Given the description of an element on the screen output the (x, y) to click on. 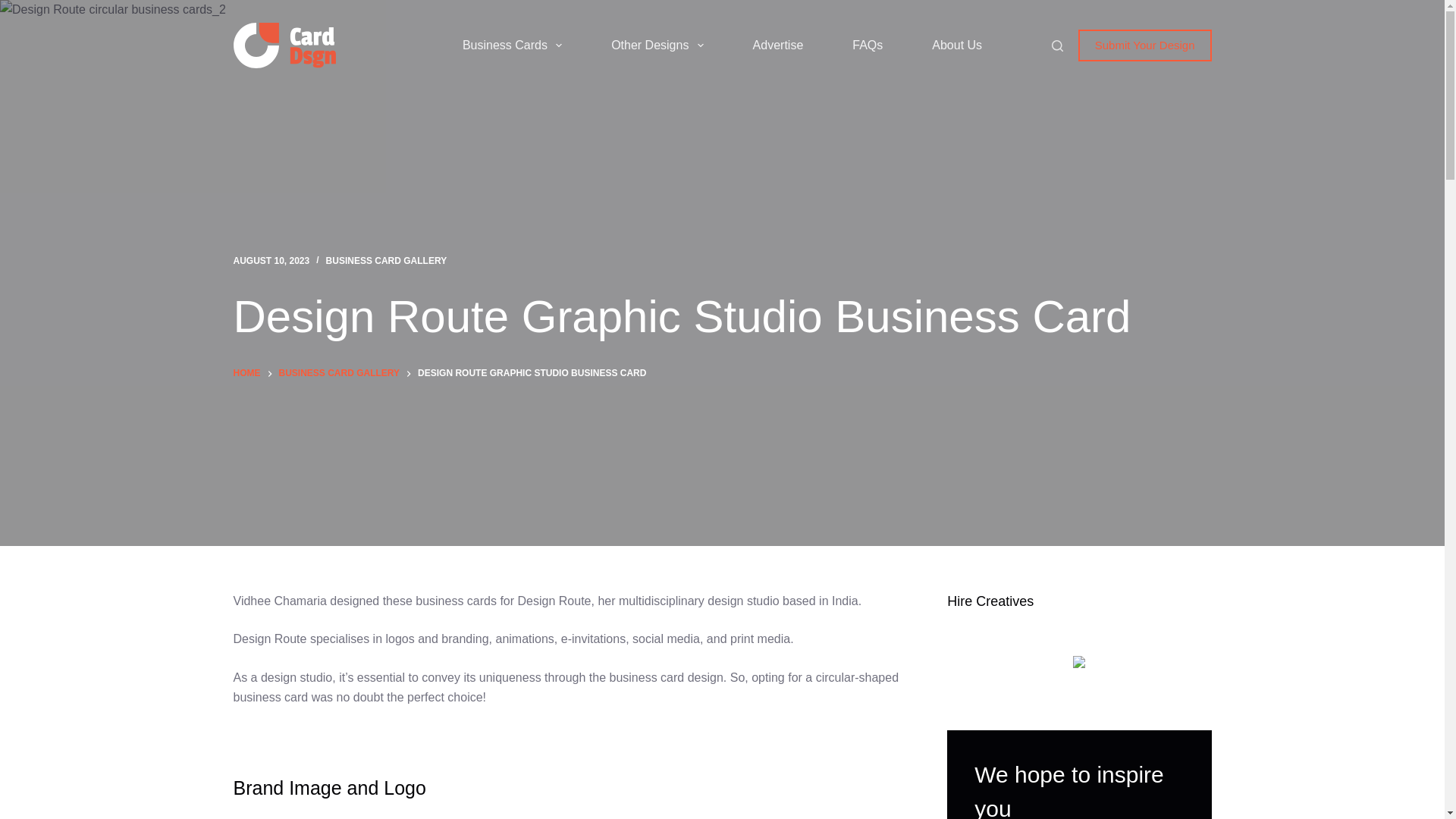
Submit Your Design (1144, 45)
Advertise (778, 45)
SONNE Foodtography (1079, 677)
Design Route Graphic Studio Business Card (721, 316)
BUSINESS CARD GALLERY (386, 260)
Other Designs (657, 45)
About Us (957, 45)
Business Cards (512, 45)
Skip to content (15, 7)
